Given the description of an element on the screen output the (x, y) to click on. 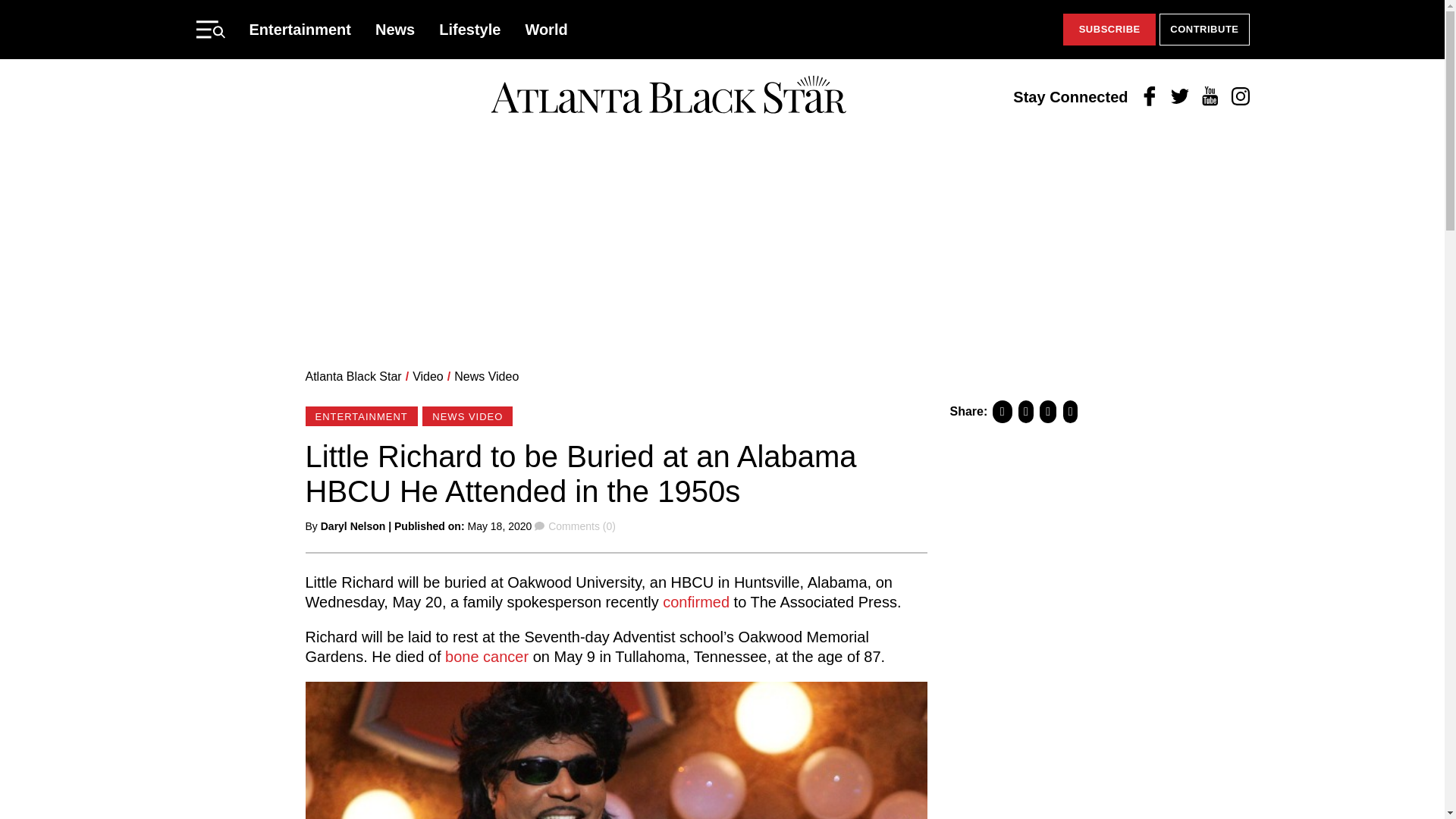
News (394, 29)
Entertainment (299, 29)
SUBSCRIBE (1109, 29)
Go to the News Video Category archives. (486, 376)
Go to Atlanta Black Star. (352, 376)
Lifestyle (469, 29)
NEWS VIDEO (467, 415)
CONTRIBUTE (1203, 29)
Atlanta Black Star (352, 376)
World (545, 29)
